Given the description of an element on the screen output the (x, y) to click on. 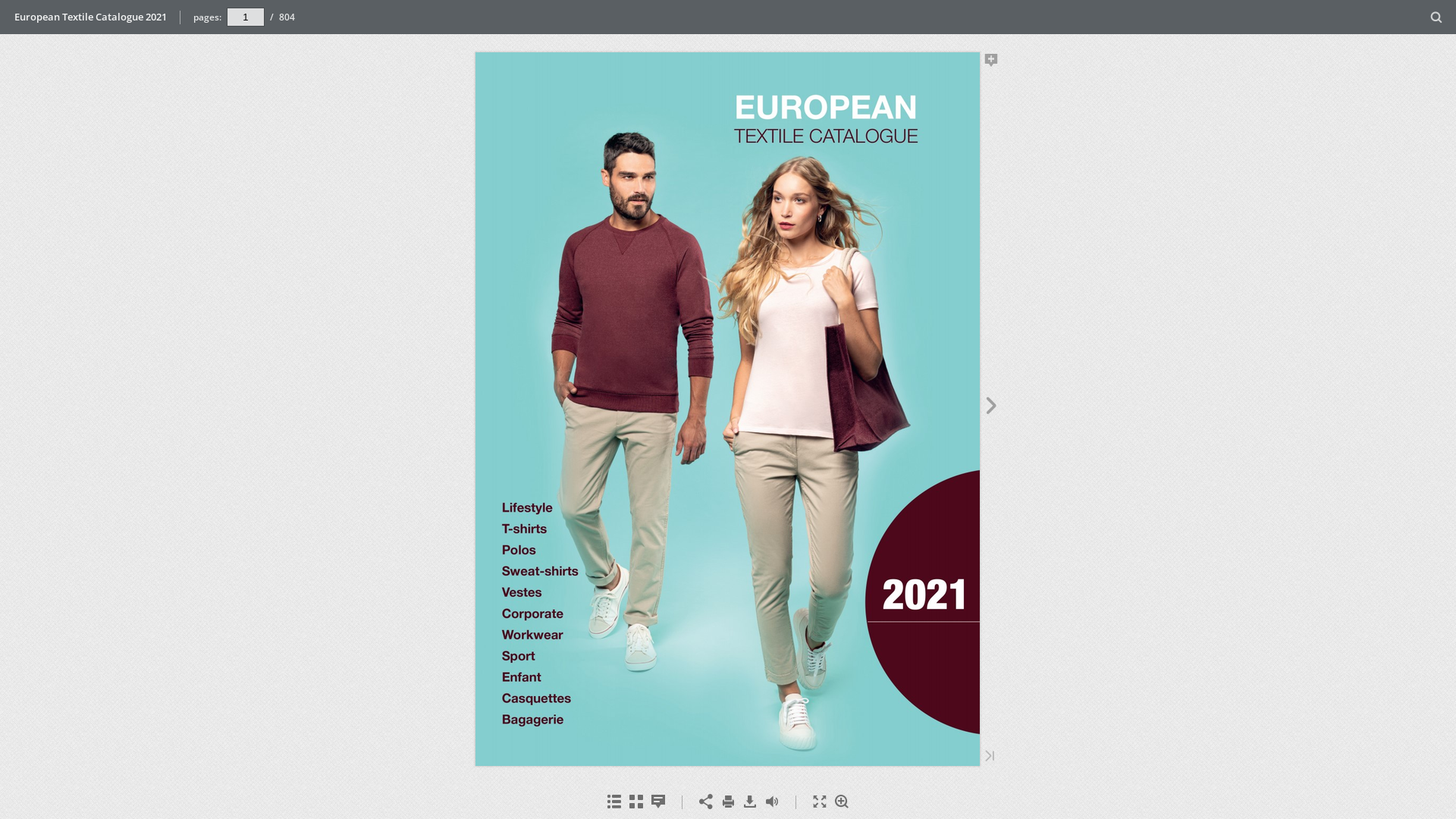
Download Element type: hover (749, 801)
Print Element type: hover (728, 801)
Notes Element type: hover (658, 801)
Last Page Element type: hover (989, 756)
Zoom In Element type: hover (842, 801)
Thumbnails Element type: hover (635, 801)
Next Page Element type: hover (991, 407)
Search Element type: hover (1436, 17)
Add Note Element type: hover (991, 62)
Table of Contents Element type: hover (614, 801)
Toggle Sound Element type: hover (772, 801)
Fullscreen Element type: hover (819, 801)
Share Element type: hover (705, 801)
